Given the description of an element on the screen output the (x, y) to click on. 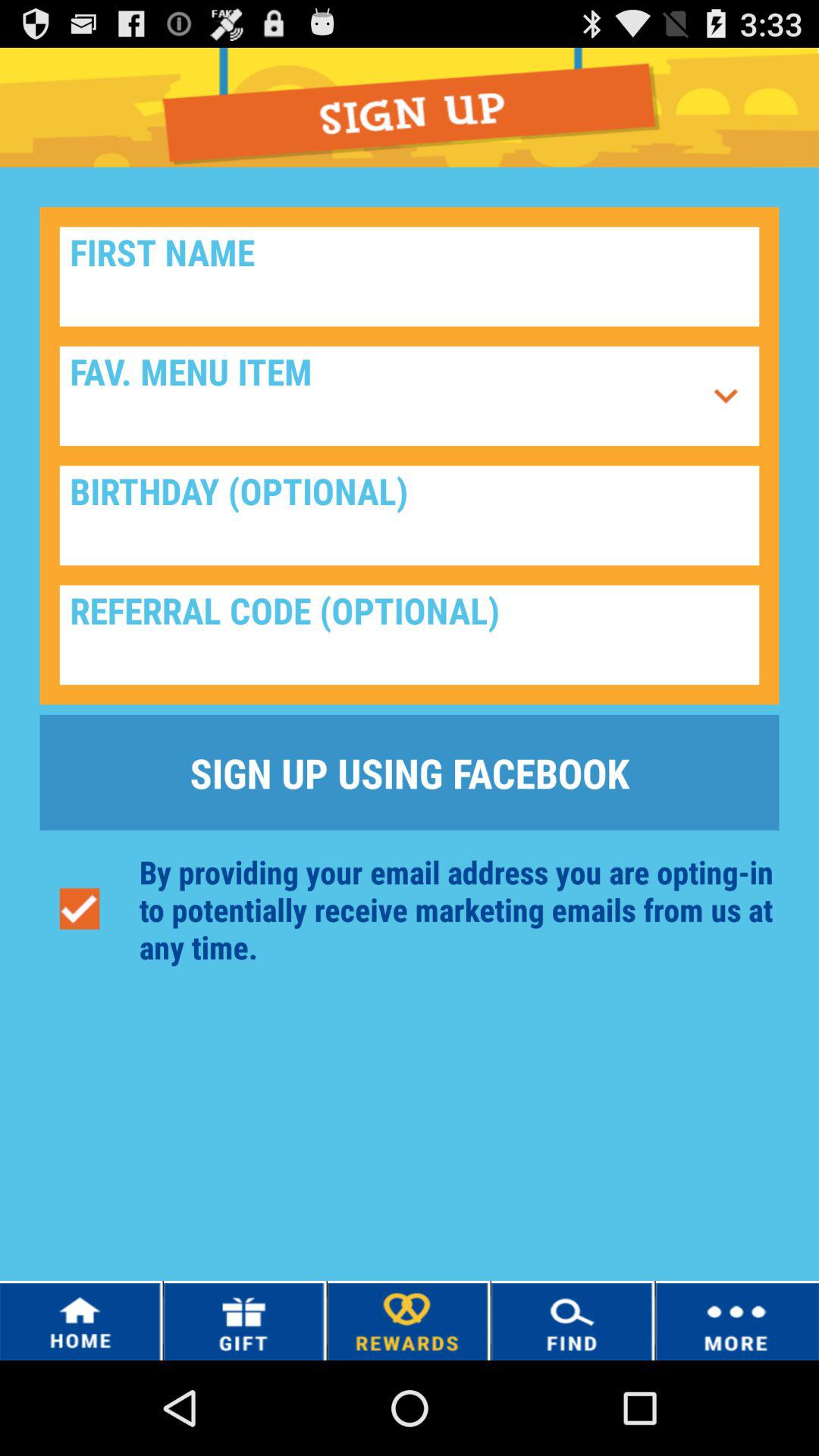
click the tick box (79, 909)
